Given the description of an element on the screen output the (x, y) to click on. 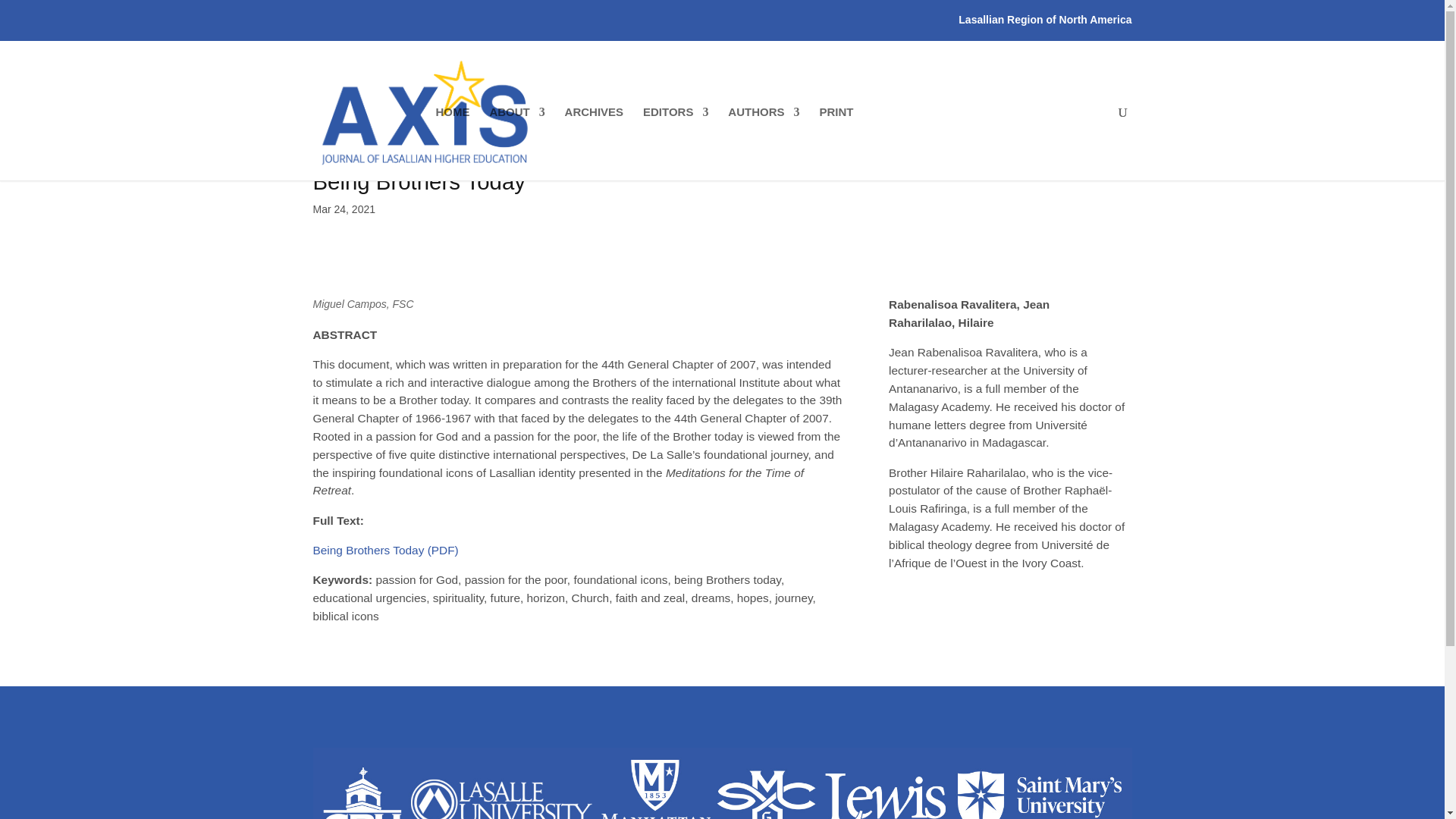
EDITORS (675, 124)
PRINT (835, 124)
ARCHIVES (594, 124)
AUTHORS (763, 124)
HOME (451, 124)
Footer-hi-res (722, 783)
ABOUT (516, 124)
Lasallian Region of North America (1044, 23)
Being Brothers Today (385, 549)
